Given the description of an element on the screen output the (x, y) to click on. 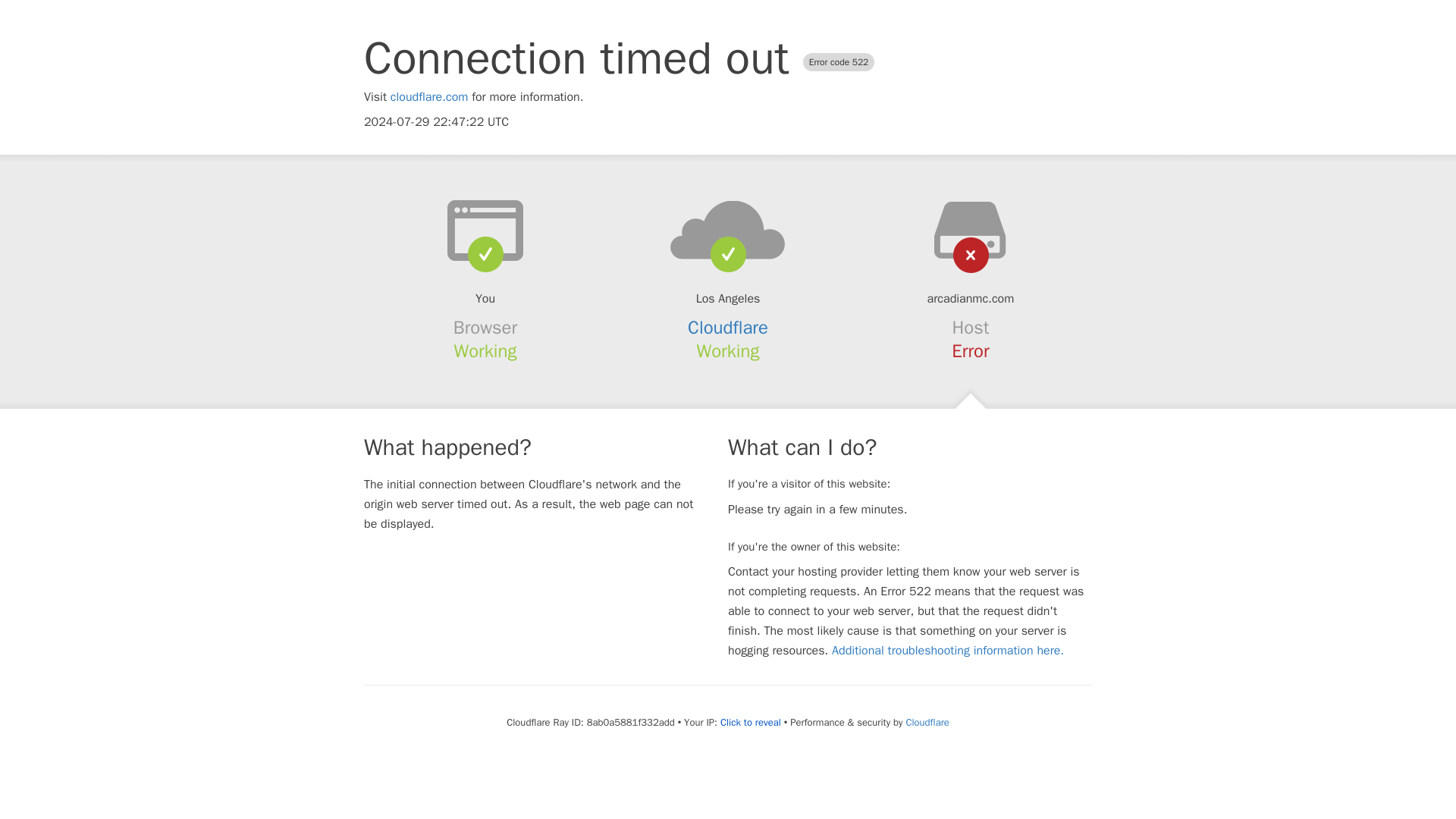
Cloudflare (927, 721)
cloudflare.com (429, 96)
Cloudflare (727, 327)
Click to reveal (750, 722)
Additional troubleshooting information here. (947, 650)
